Given the description of an element on the screen output the (x, y) to click on. 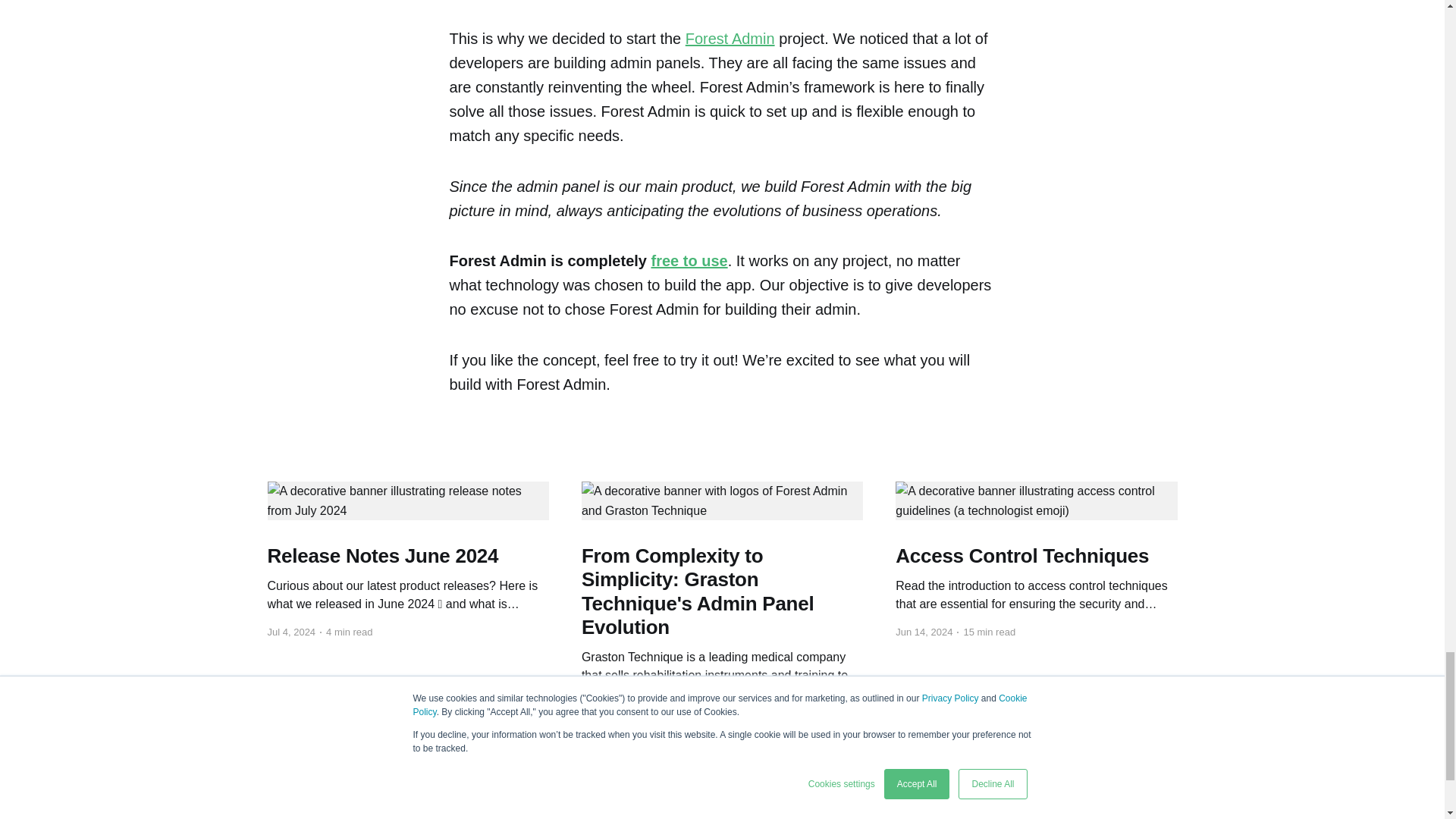
Forest Admin (729, 38)
free to use (688, 260)
